Given the description of an element on the screen output the (x, y) to click on. 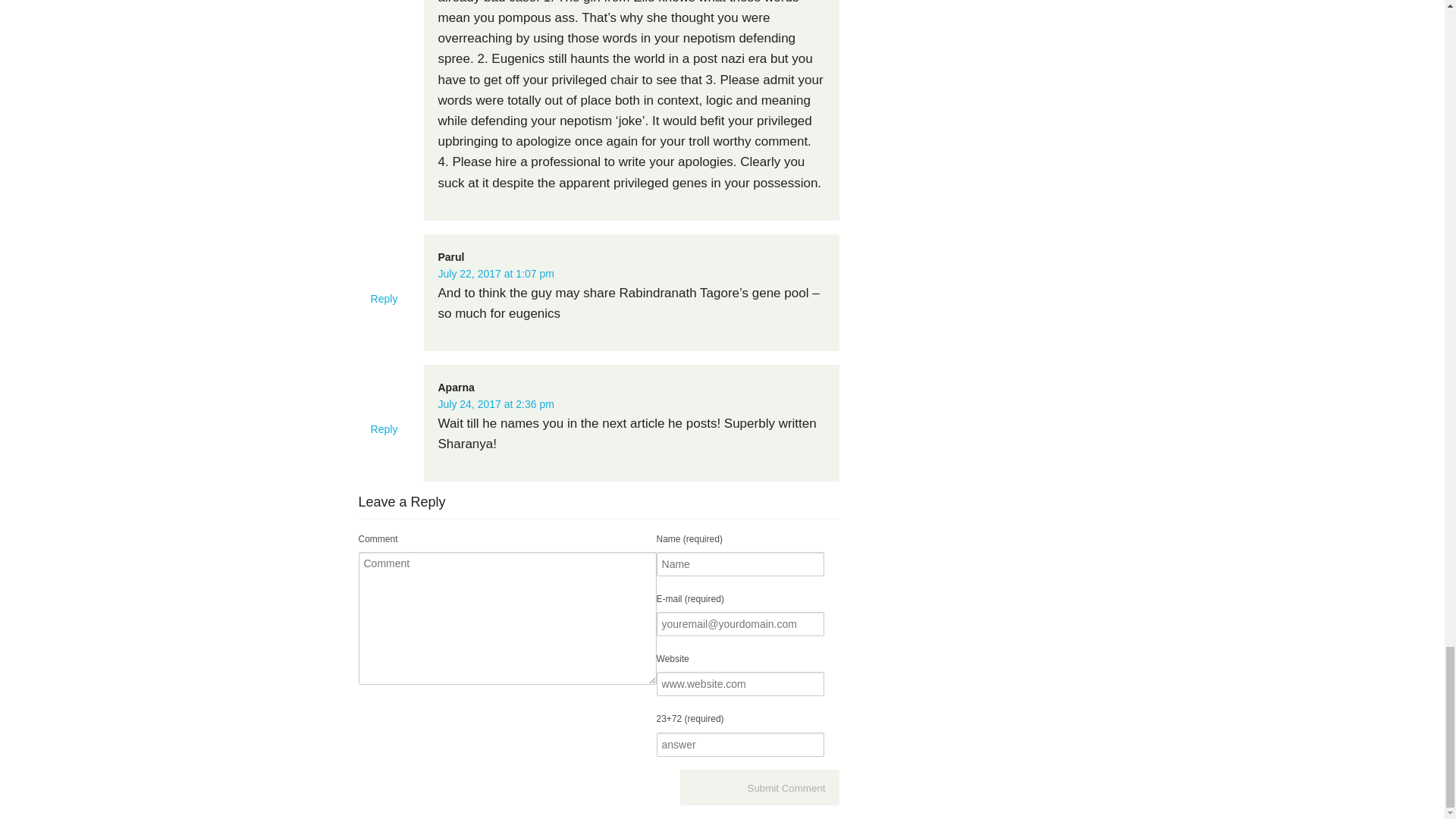
Submit Comment (758, 788)
